Given the description of an element on the screen output the (x, y) to click on. 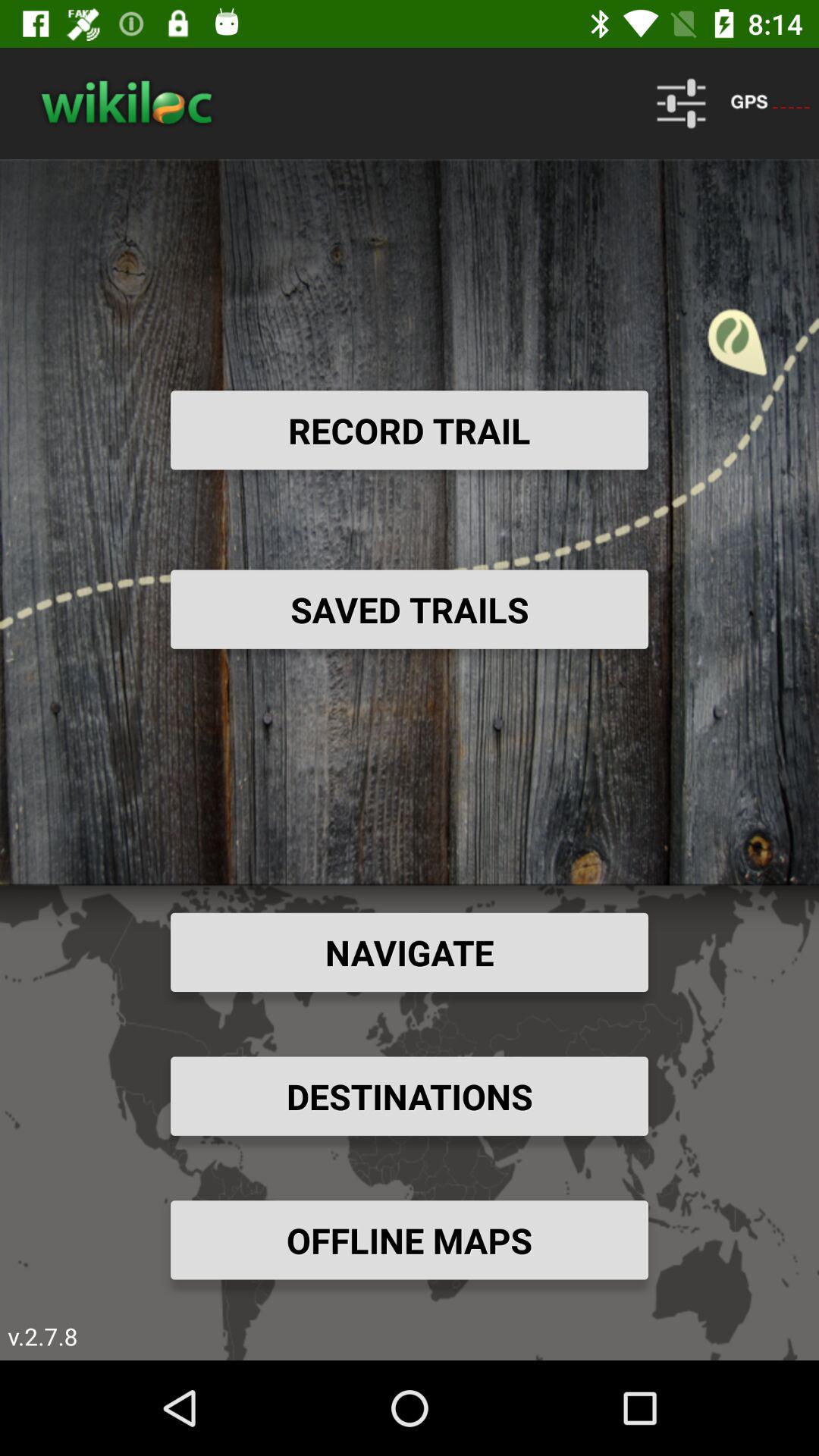
press navigate icon (409, 951)
